Given the description of an element on the screen output the (x, y) to click on. 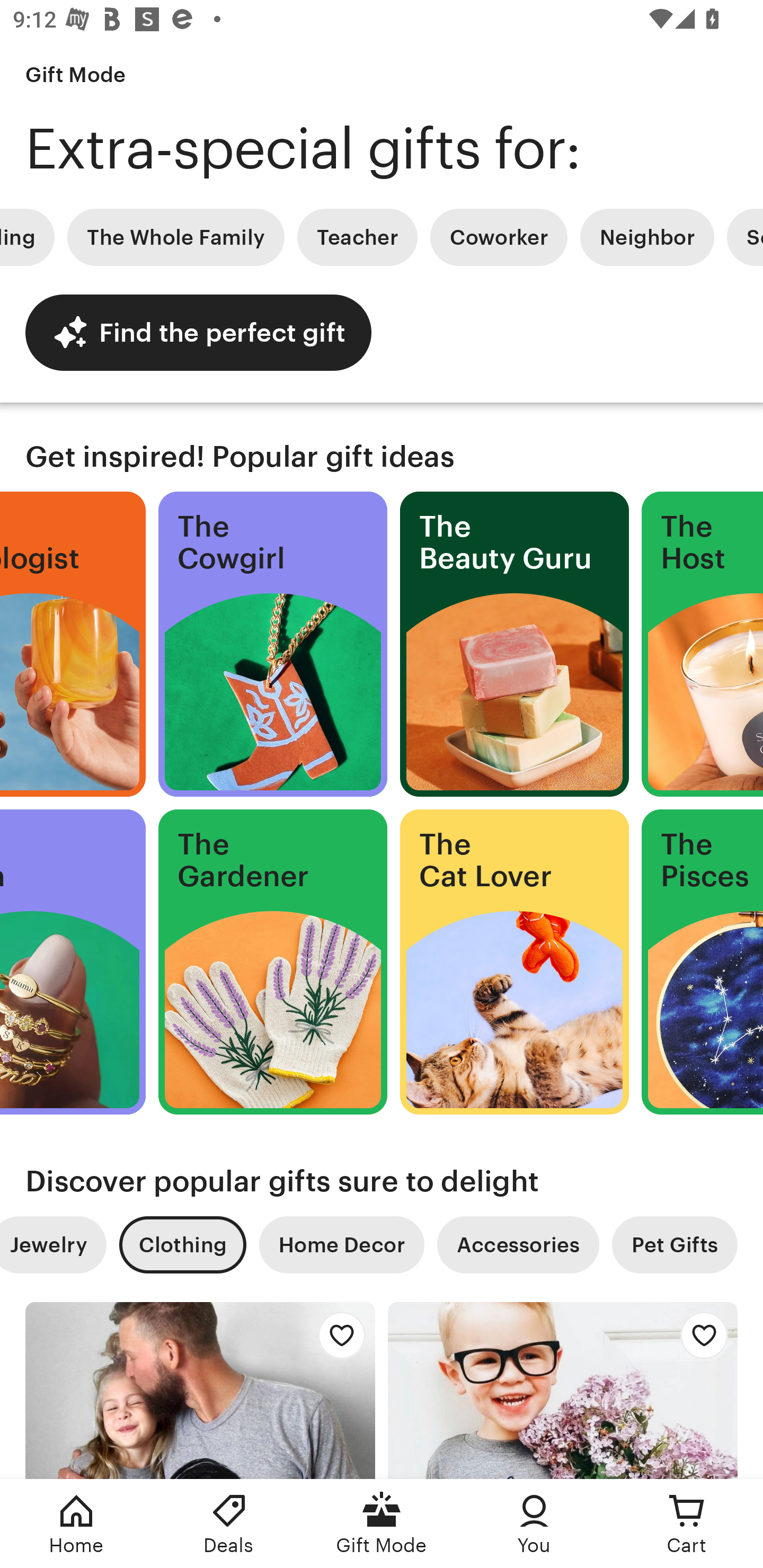
The Whole Family (175, 237)
Teacher (357, 237)
Coworker (498, 237)
Neighbor (646, 237)
Find the perfect gift (198, 332)
The Cowgirl (272, 644)
The Beauty Guru (513, 644)
The Host (702, 644)
The Gardener (272, 961)
The Cat Lover (513, 961)
The Pisces (702, 961)
Jewelry (53, 1244)
Clothing (182, 1244)
Home Decor (341, 1244)
Accessories (517, 1244)
Pet Gifts (674, 1244)
Home (76, 1523)
Deals (228, 1523)
You (533, 1523)
Cart (686, 1523)
